Given the description of an element on the screen output the (x, y) to click on. 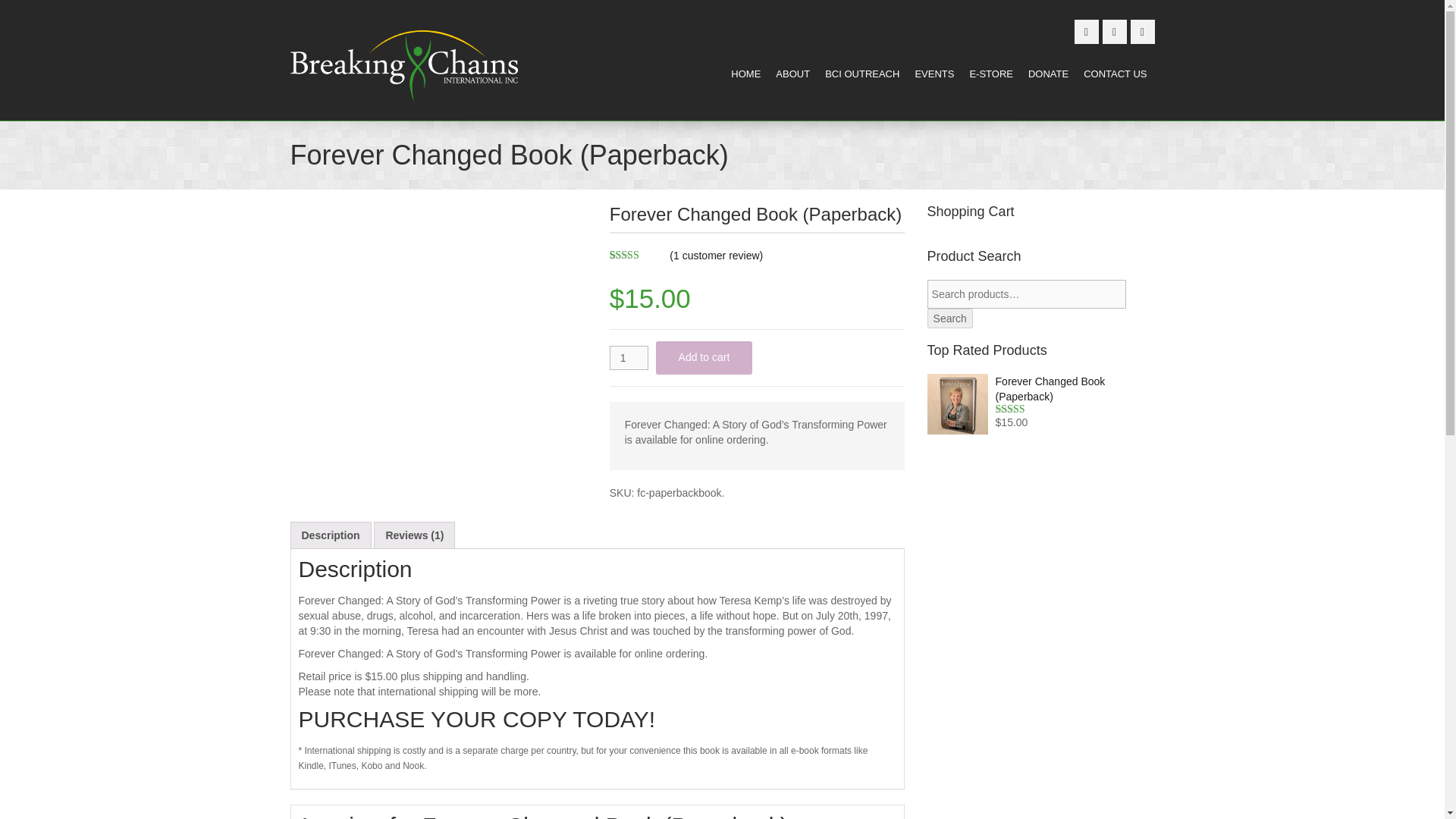
Twitter (1085, 31)
BCI OUTREACH (862, 73)
CONTACT US (1115, 73)
EVENTS (933, 73)
DONATE (1047, 73)
Email (1141, 31)
HOME (745, 73)
ABOUT (792, 73)
1 (628, 357)
Qty (628, 357)
Breaking Chains International (402, 65)
Facebook (1114, 31)
E-STORE (991, 73)
